Given the description of an element on the screen output the (x, y) to click on. 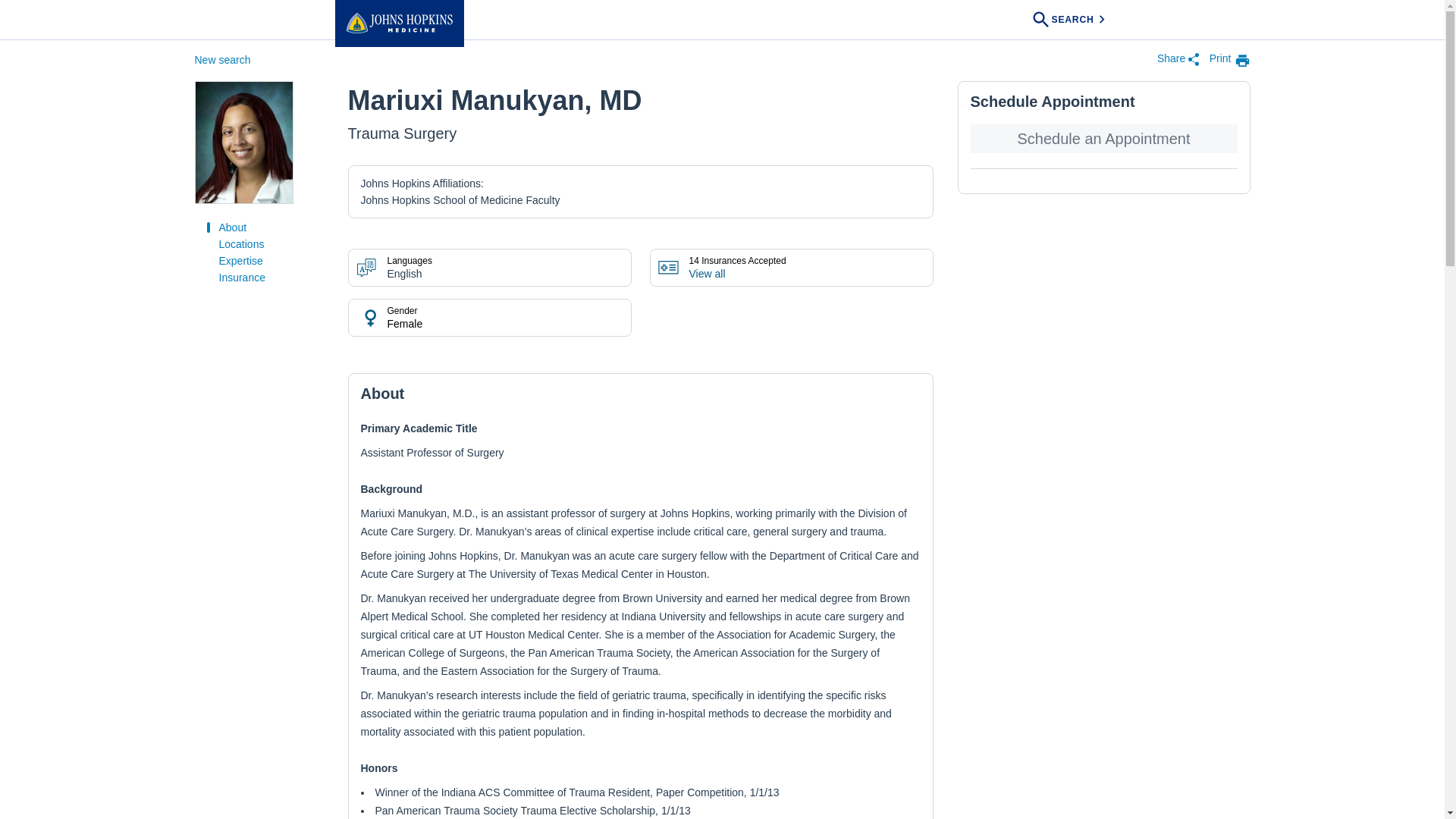
About (232, 226)
Insurance (241, 276)
Locations (240, 244)
New search (221, 59)
View all (706, 273)
Expertise (240, 260)
Schedule an Appointment (1104, 138)
SEARCH (1069, 19)
Share (1178, 60)
Print (1229, 59)
